Given the description of an element on the screen output the (x, y) to click on. 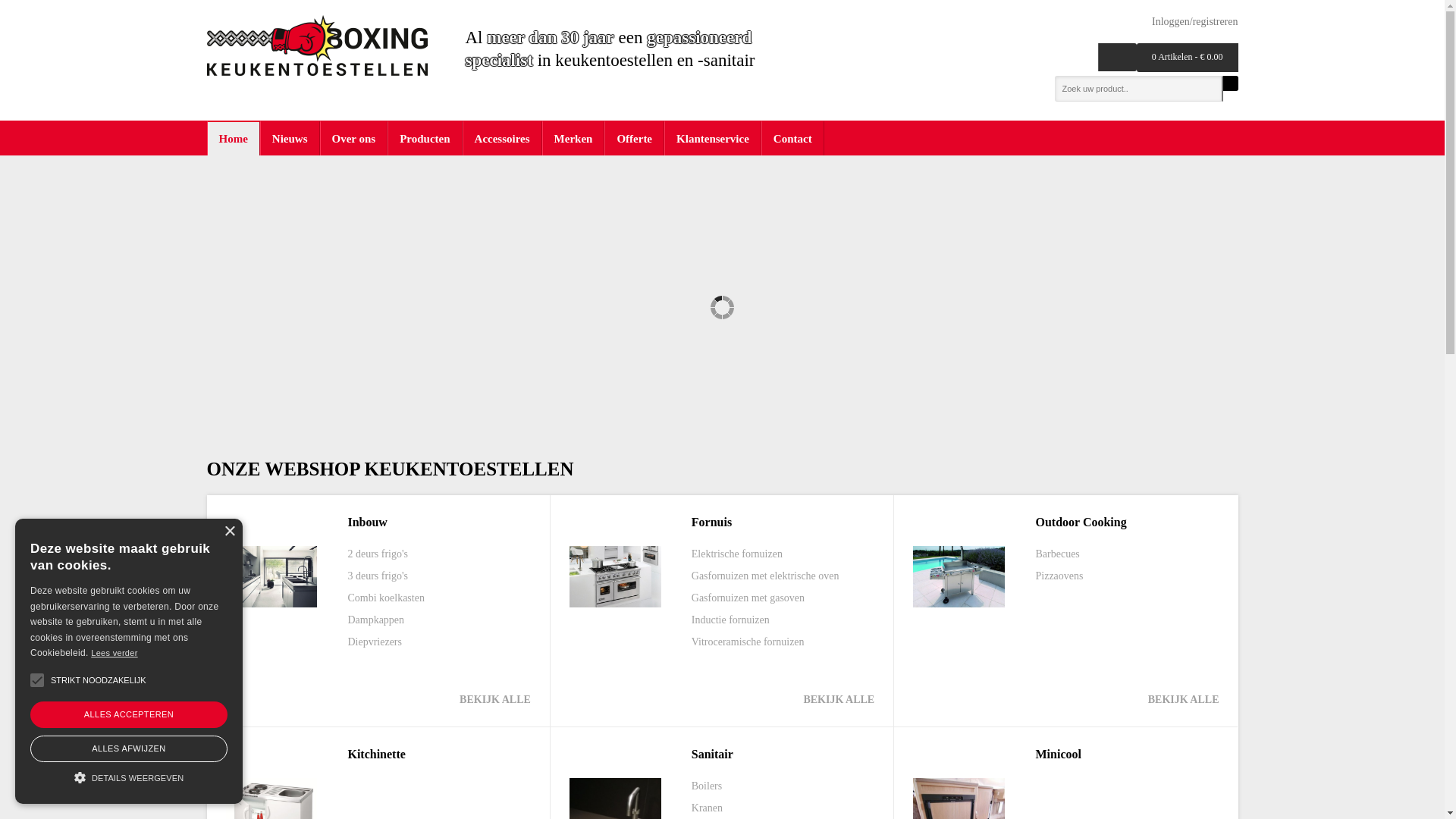
Sanitair Element type: text (712, 753)
Gasfornuizen met elektrische oven Element type: text (765, 575)
Pizzaovens Element type: text (1059, 575)
Combi koelkasten Element type: text (385, 597)
Elektrische fornuizen Element type: text (736, 553)
Barbecues Element type: text (1057, 553)
Inloggen/registreren Element type: text (1191, 21)
Merken Element type: text (573, 137)
2 deurs frigo's Element type: text (377, 553)
Kranen Element type: text (706, 807)
Offerte Element type: text (634, 137)
BEKIJK ALLE Element type: text (838, 699)
3 deurs frigo's Element type: text (377, 575)
Contact Element type: text (792, 137)
Diepvriezers Element type: text (374, 641)
Outdoor Cooking Element type: text (1080, 521)
Boxing Keukentoestellen Element type: hover (316, 45)
Nieuws Element type: text (290, 137)
Klantenservice Element type: text (712, 137)
Gasfornuizen met gasoven Element type: text (747, 597)
Minicool Element type: text (1058, 753)
Vitroceramische fornuizen Element type: text (747, 641)
Dampkappen Element type: text (375, 619)
Accessoires Element type: text (502, 137)
Kitchinette Element type: text (375, 753)
Boilers Element type: text (706, 785)
BEKIJK ALLE Element type: text (494, 699)
Home Element type: text (232, 137)
BEKIJK ALLE Element type: text (1183, 699)
Producten Element type: text (424, 137)
Over ons Element type: text (354, 137)
Lees verder Element type: text (114, 652)
Fornuis Element type: text (711, 521)
Inbouw Element type: text (366, 521)
Inductie fornuizen Element type: text (730, 619)
